Given the description of an element on the screen output the (x, y) to click on. 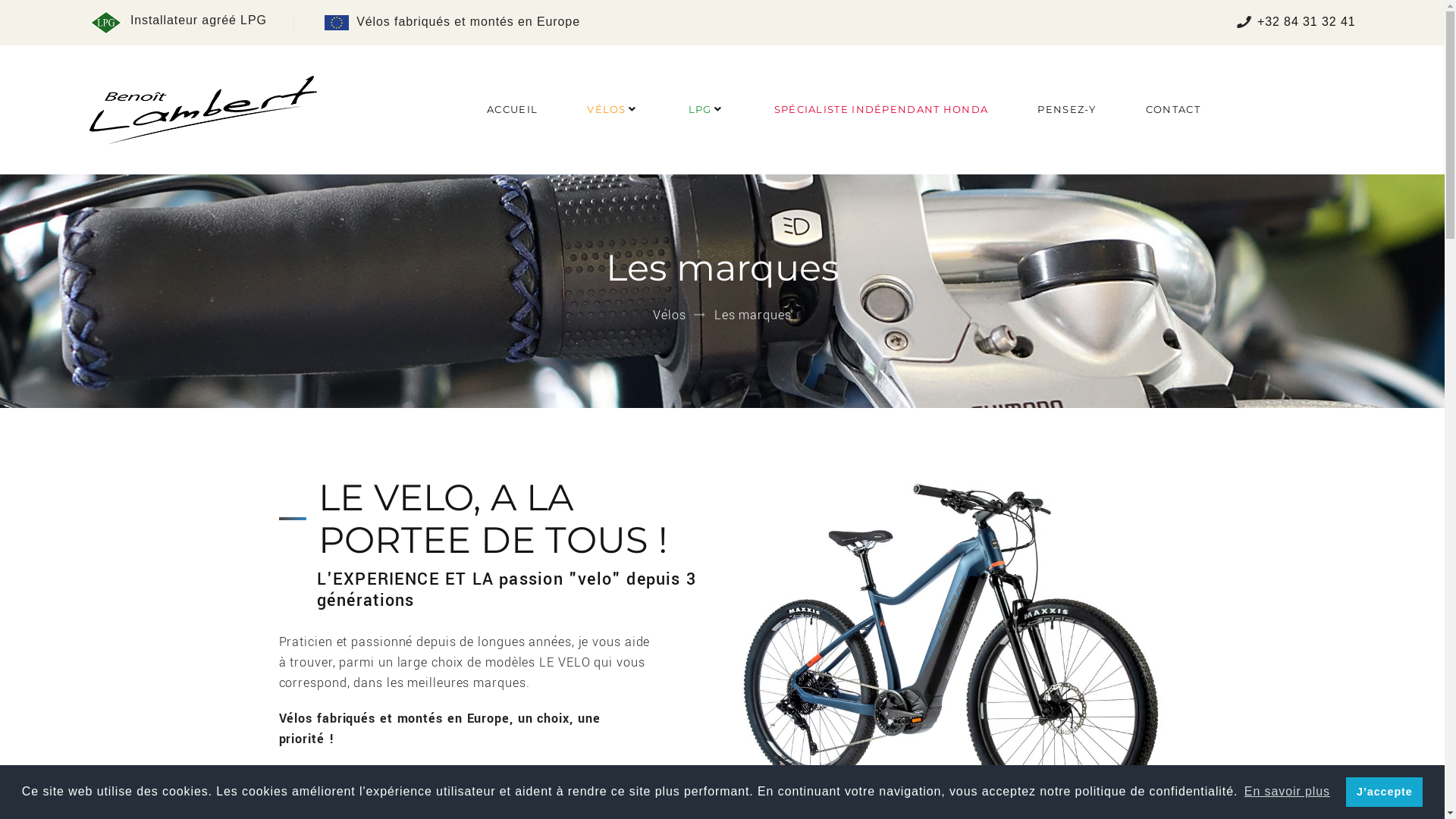
En savoir plus Element type: text (1287, 791)
LPG Element type: text (700, 109)
CONTACT Element type: text (1172, 109)
+32 84 31 32 41 Element type: text (1306, 21)
PENSEZ-Y Element type: text (1066, 109)
ACCUEIL Element type: text (511, 109)
